Given the description of an element on the screen output the (x, y) to click on. 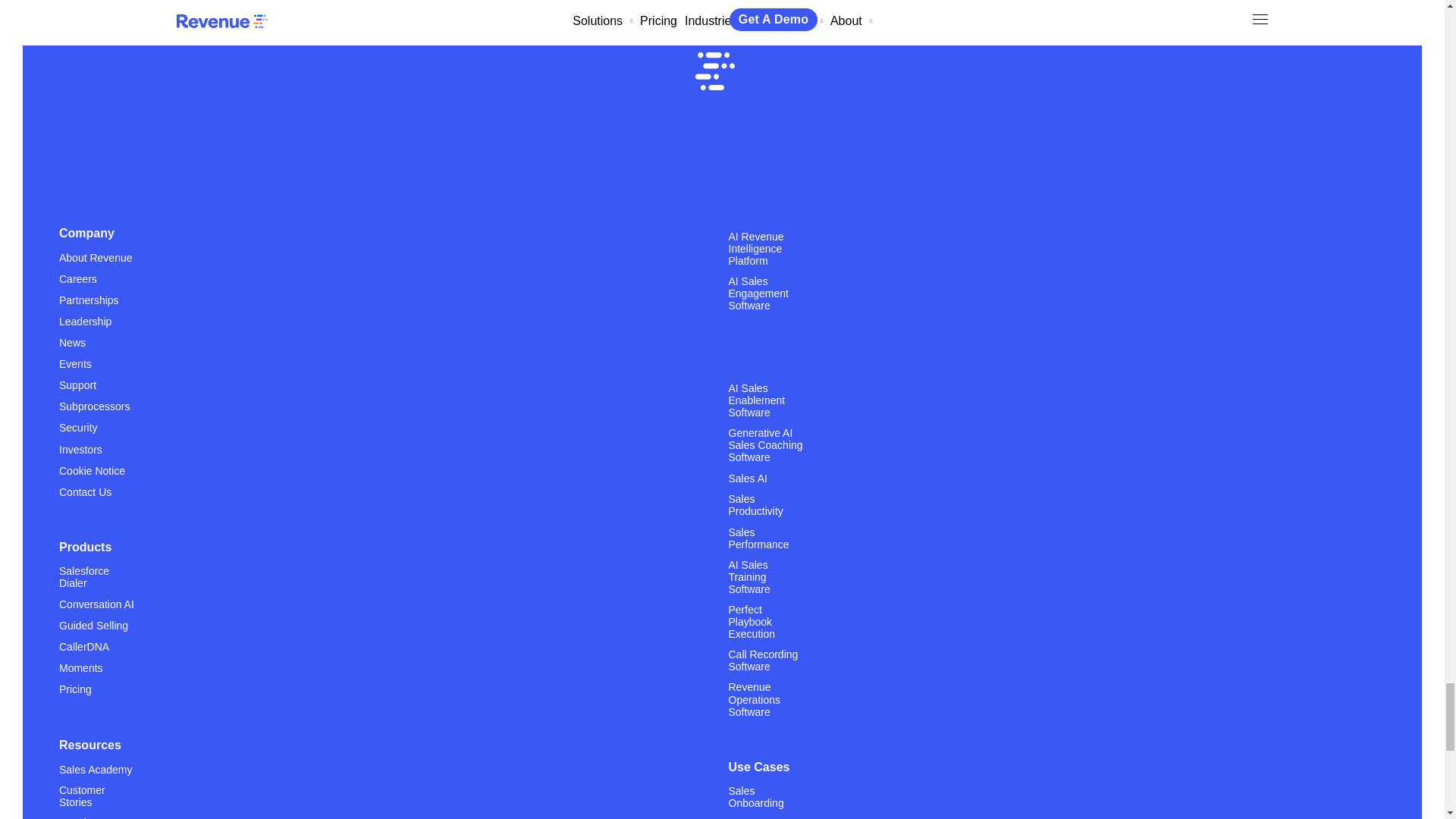
Salesforce Dialer (97, 582)
Conversation AI (96, 603)
Contact Us (85, 491)
Subprocessors (94, 405)
Pricing (75, 688)
Events (75, 363)
Security (78, 427)
Leadership (85, 320)
About Revenue (95, 256)
Support (77, 384)
